Given the description of an element on the screen output the (x, y) to click on. 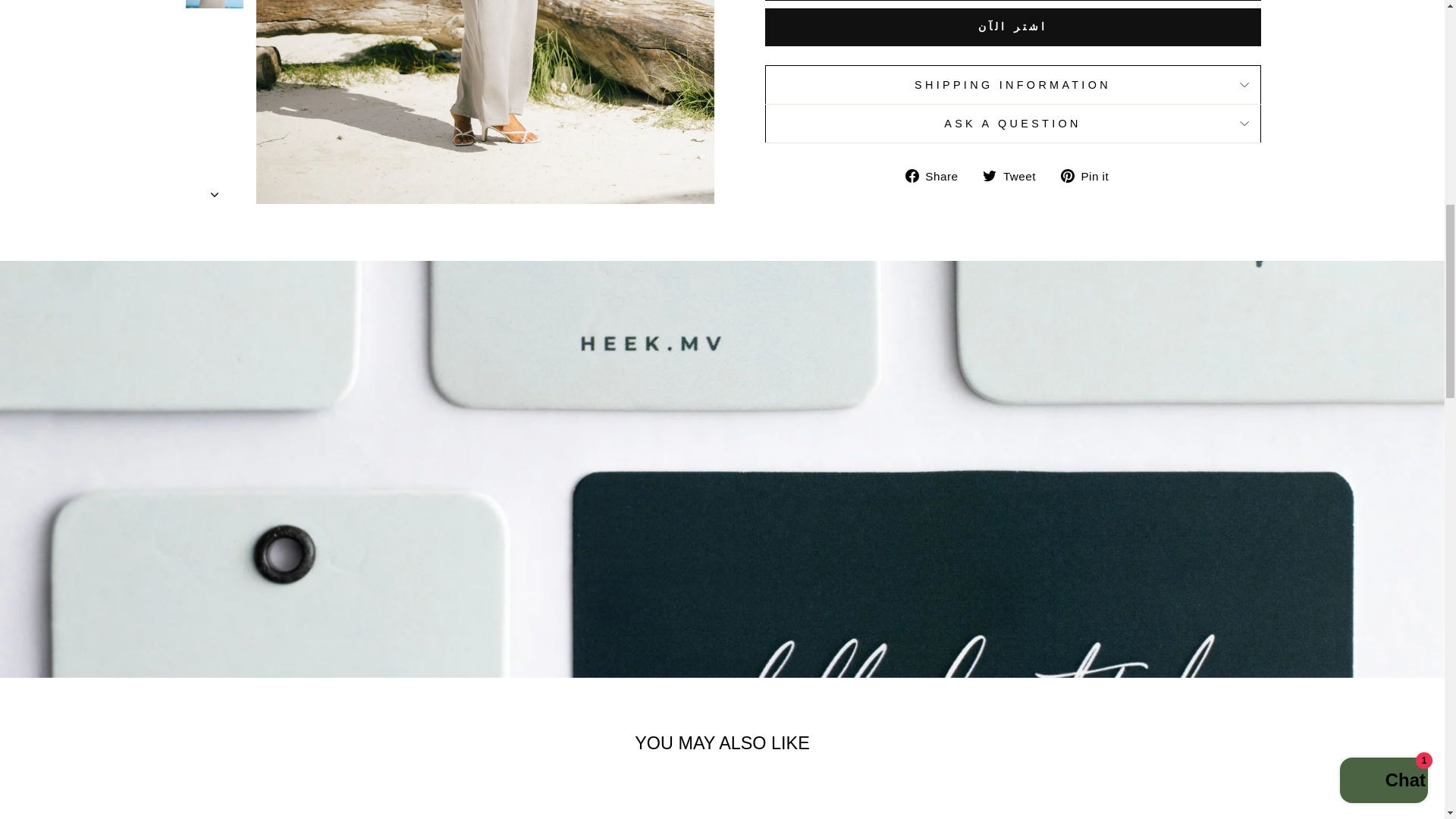
Tweet on Twitter (1014, 175)
twitter (988, 175)
Pin on Pinterest (1090, 175)
Share on Facebook (937, 175)
